Given the description of an element on the screen output the (x, y) to click on. 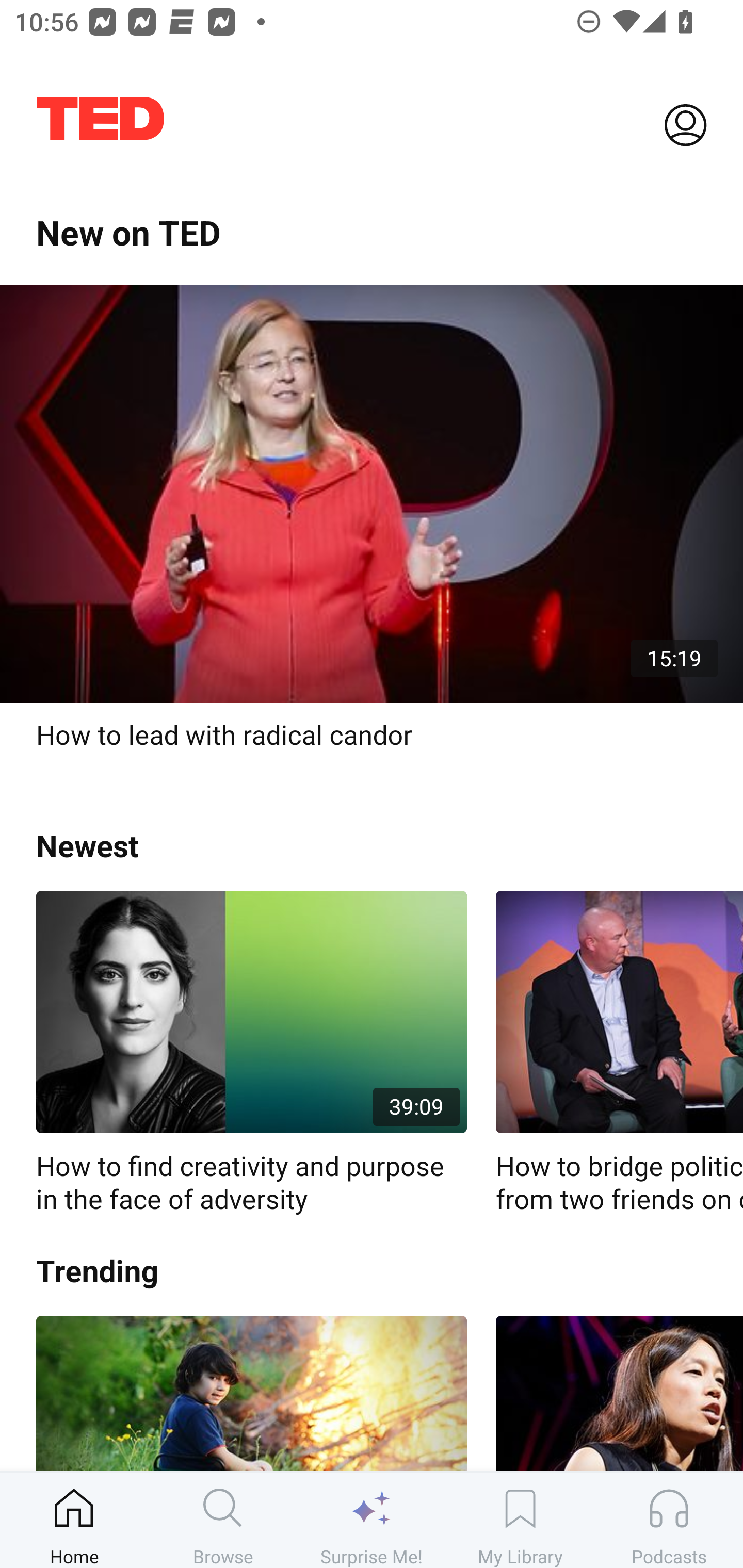
Home (74, 1520)
Browse (222, 1520)
Surprise Me! (371, 1520)
My Library (519, 1520)
Podcasts (668, 1520)
